Given the description of an element on the screen output the (x, y) to click on. 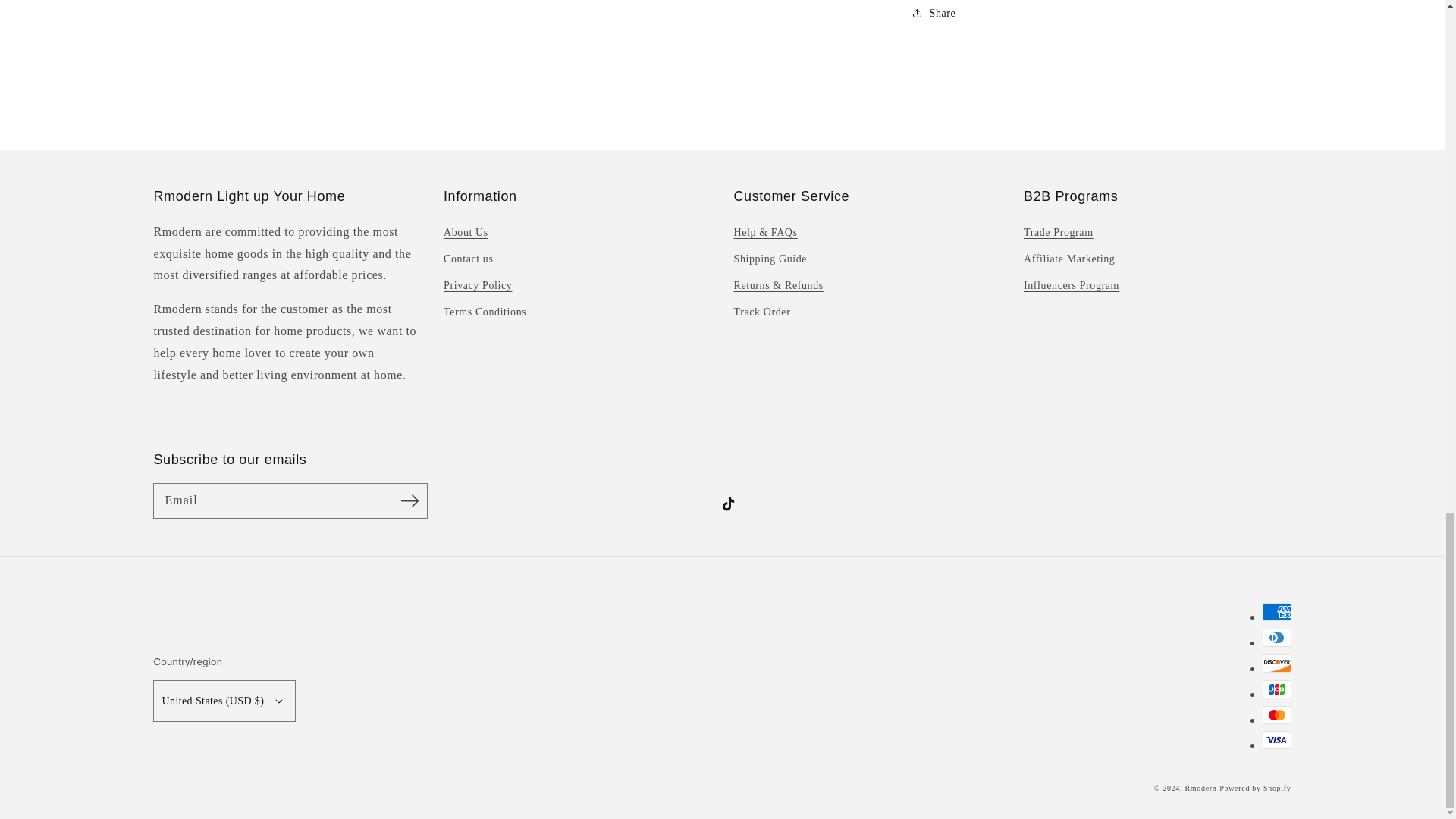
Mastercard (1276, 714)
American Express (1276, 611)
Visa (1276, 740)
Discover (1276, 663)
Diners Club (1276, 637)
JCB (1276, 689)
